Given the description of an element on the screen output the (x, y) to click on. 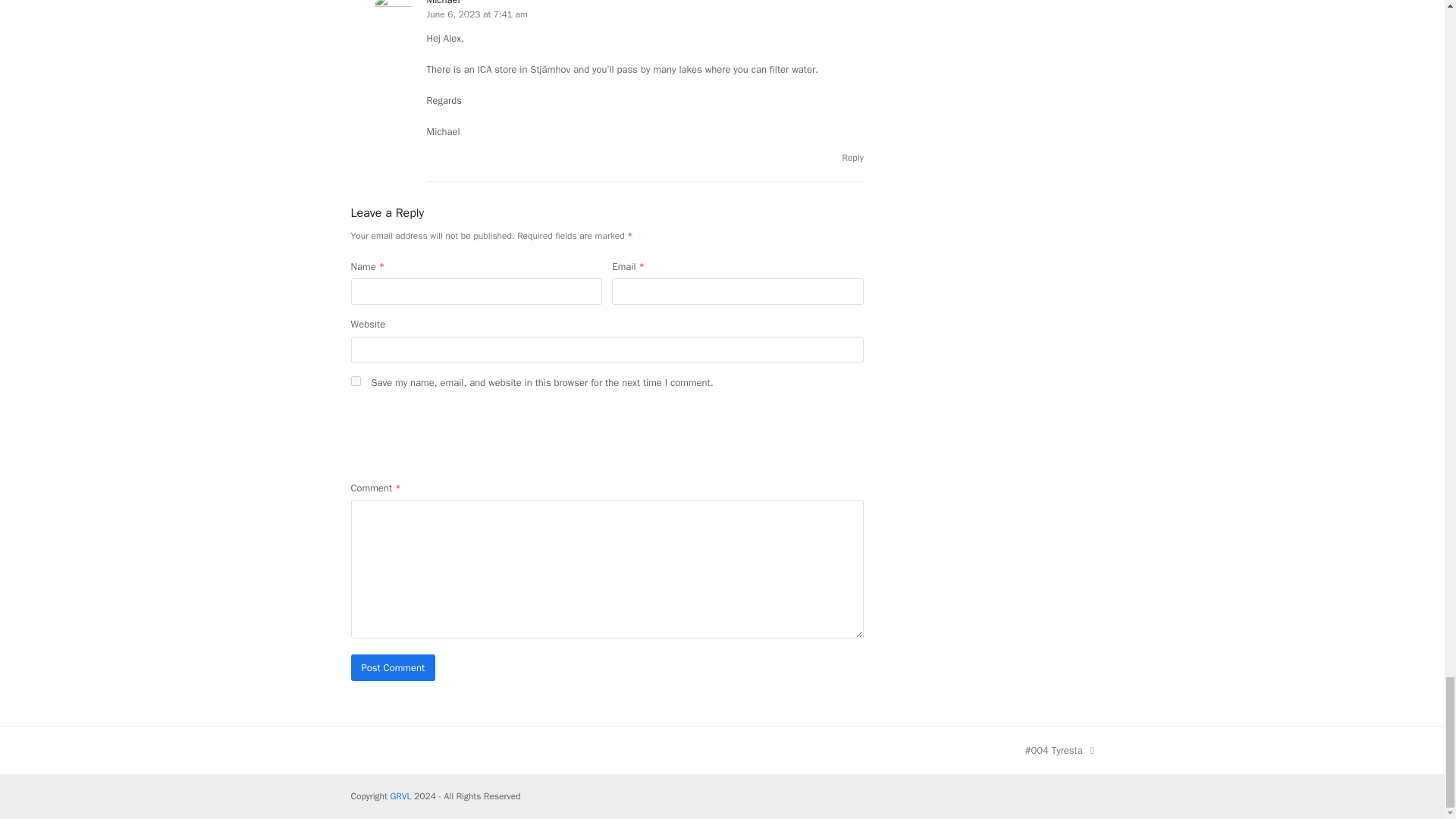
Post Comment (392, 667)
reCAPTCHA (465, 445)
yes (354, 380)
